Given the description of an element on the screen output the (x, y) to click on. 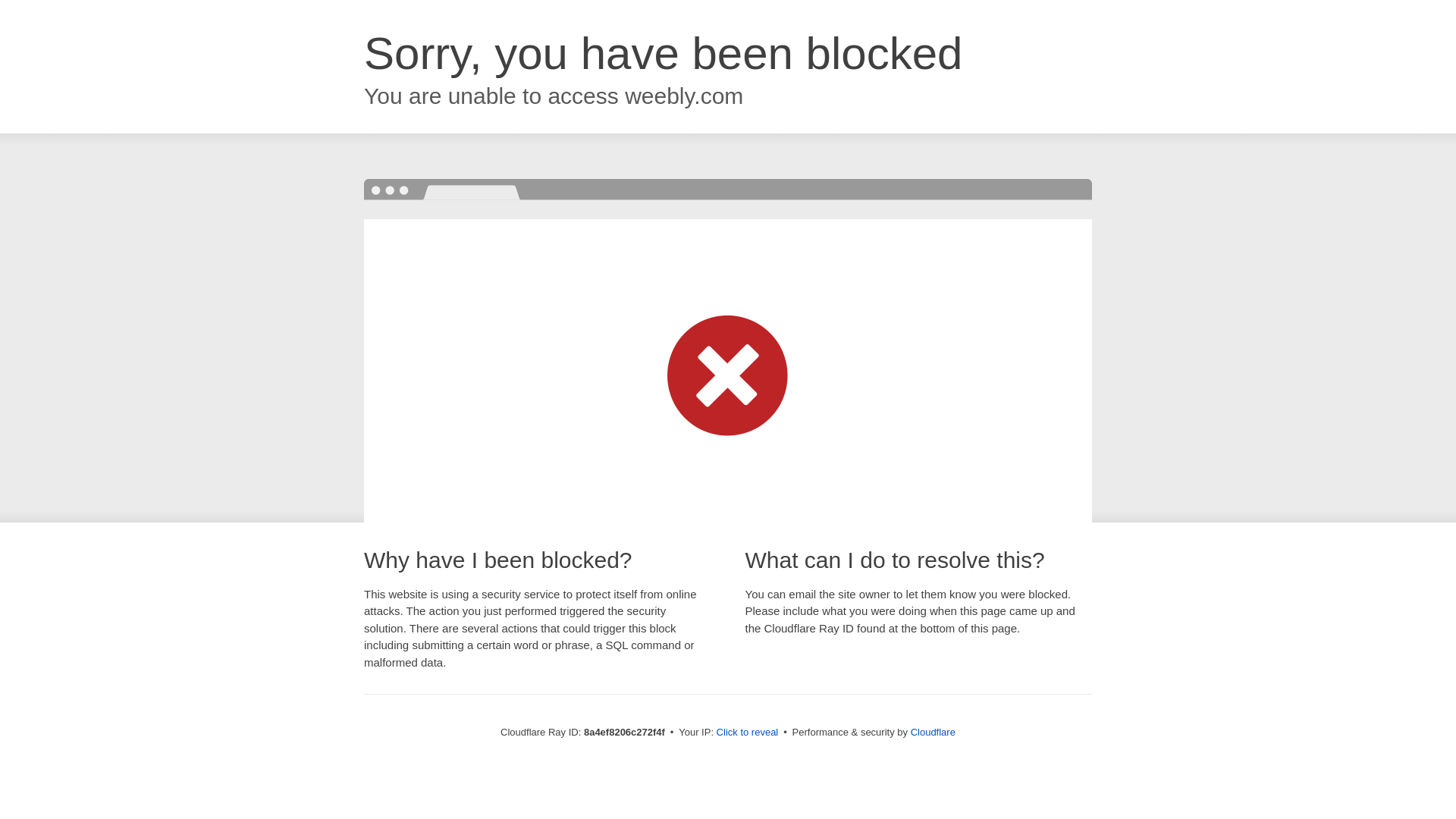
Click to reveal (747, 732)
Cloudflare (933, 731)
